Given the description of an element on the screen output the (x, y) to click on. 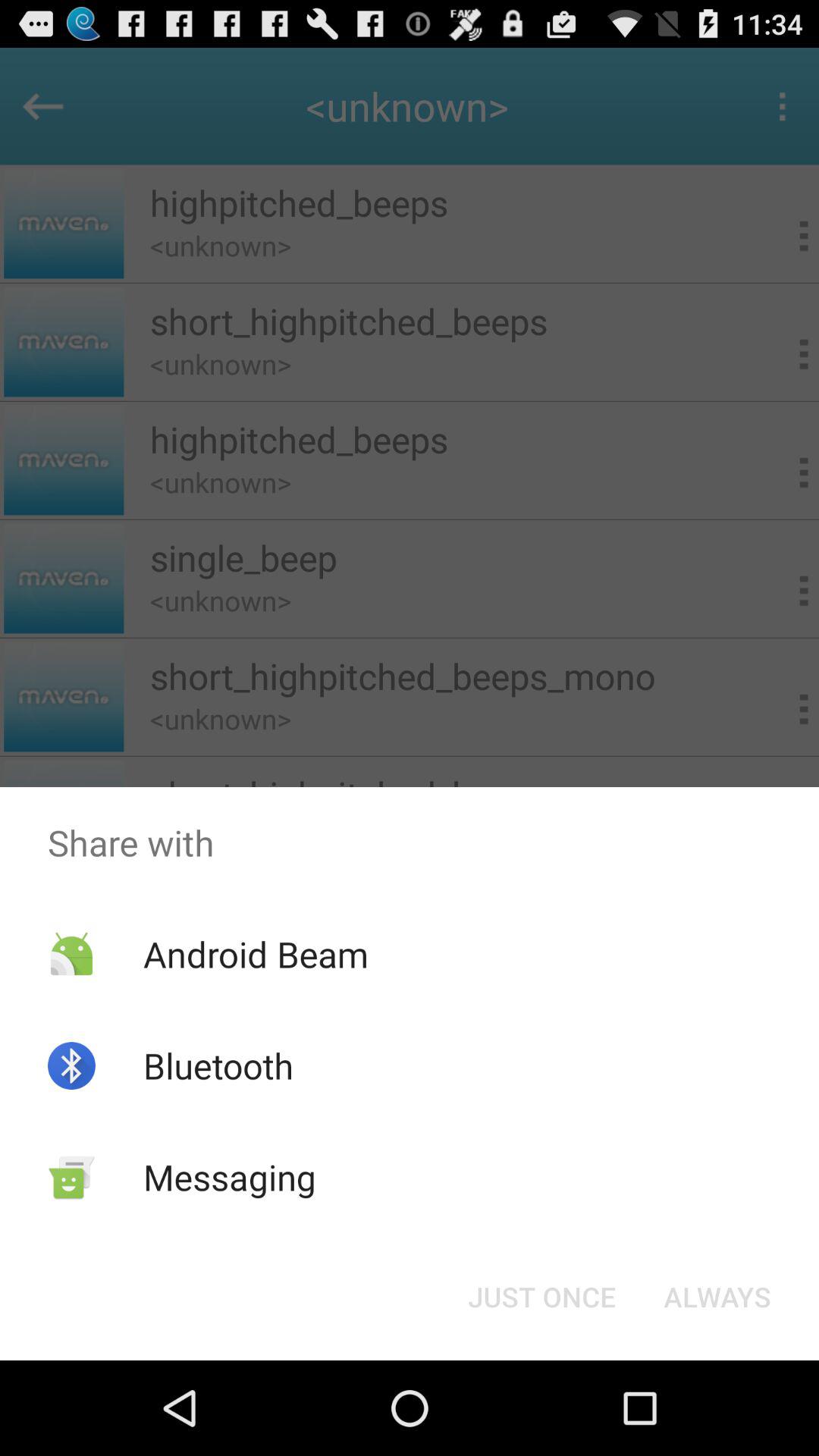
jump to the always item (717, 1296)
